Given the description of an element on the screen output the (x, y) to click on. 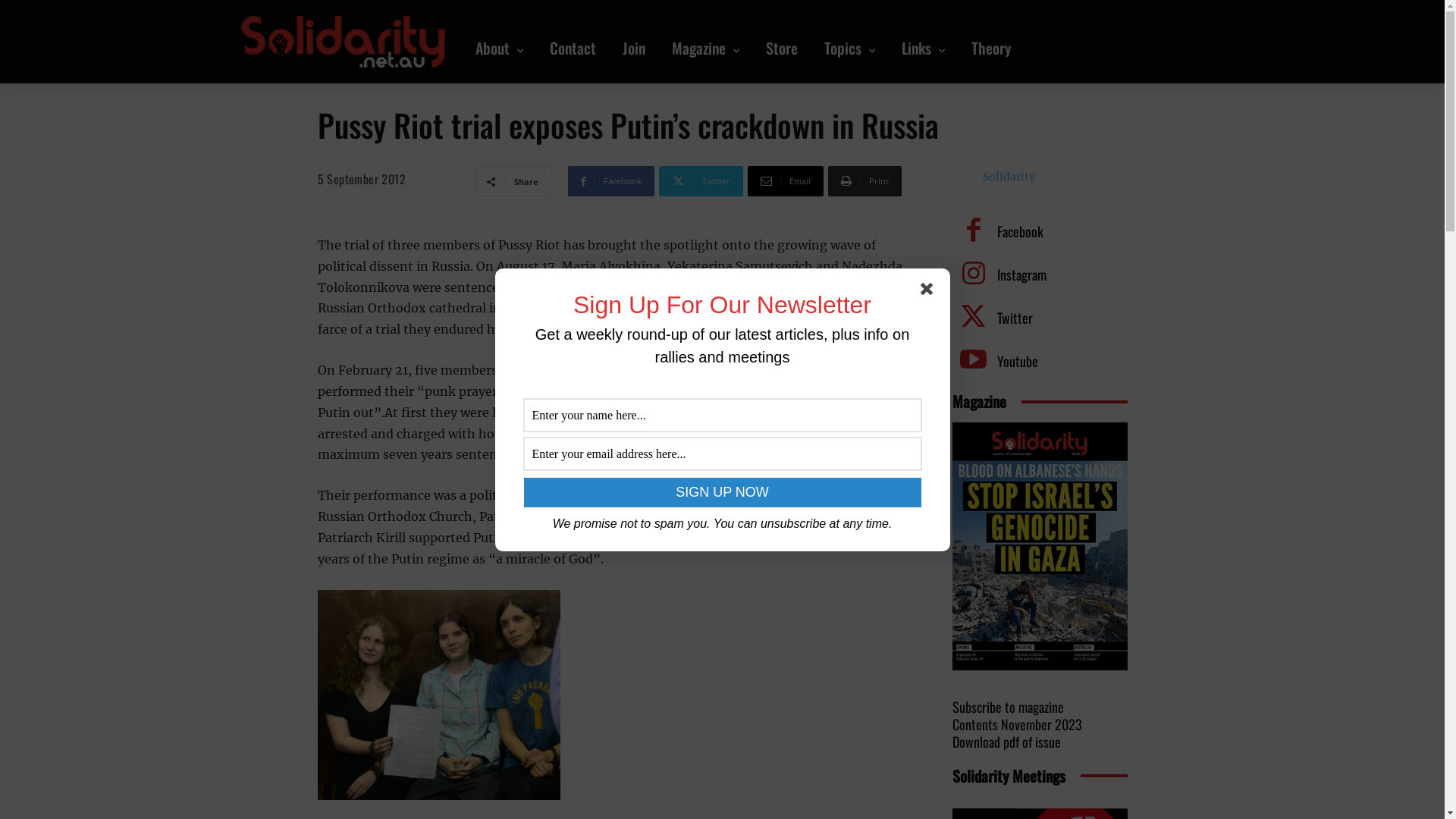
Contents November 2023 Element type: text (1017, 725)
Store Element type: text (780, 47)
Solidarity Element type: text (1008, 176)
Twitter Element type: text (1014, 317)
Instagram Element type: text (1020, 274)
Join Element type: text (633, 47)
Download pdf of issue Element type: text (1006, 743)
Magazine Element type: text (704, 47)
Take Action Now! Element type: text (225, 14)
About Element type: text (499, 47)
Youtube Element type: hover (973, 360)
Contact Element type: text (572, 47)
Print Element type: text (864, 181)
Facebook Element type: hover (973, 231)
Twitter Element type: text (700, 181)
Email Element type: text (785, 181)
Instagram Element type: hover (973, 274)
Subscribe to magazine Element type: text (1007, 708)
Links Element type: text (922, 47)
Facebook Element type: text (1019, 230)
Facebook Element type: text (610, 181)
Theory Element type: text (990, 47)
Topics Element type: text (849, 47)
Close optin form Element type: hover (929, 291)
sign up now Element type: text (721, 492)
Youtube Element type: text (1016, 361)
Twitter Element type: hover (973, 318)
